Given the description of an element on the screen output the (x, y) to click on. 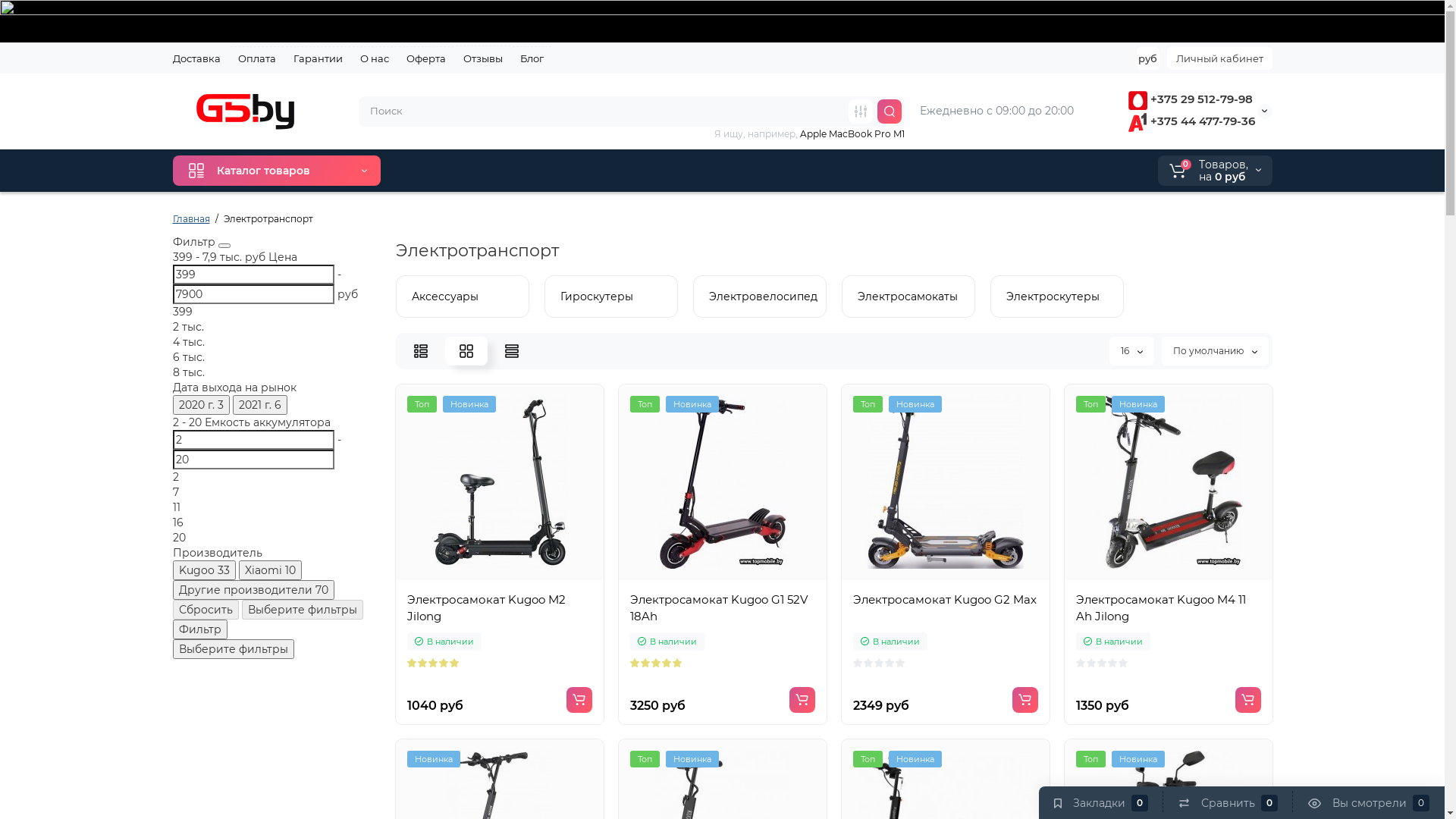
+375 44 477-79-36 Element type: text (1191, 120)
16 Element type: text (1130, 350)
+375 29 512-79-98 Element type: text (1190, 98)
Xiaomi 10 Element type: text (269, 570)
Apple MacBook Pro M1 Element type: text (851, 133)
Kugoo 33 Element type: text (203, 570)
